Given the description of an element on the screen output the (x, y) to click on. 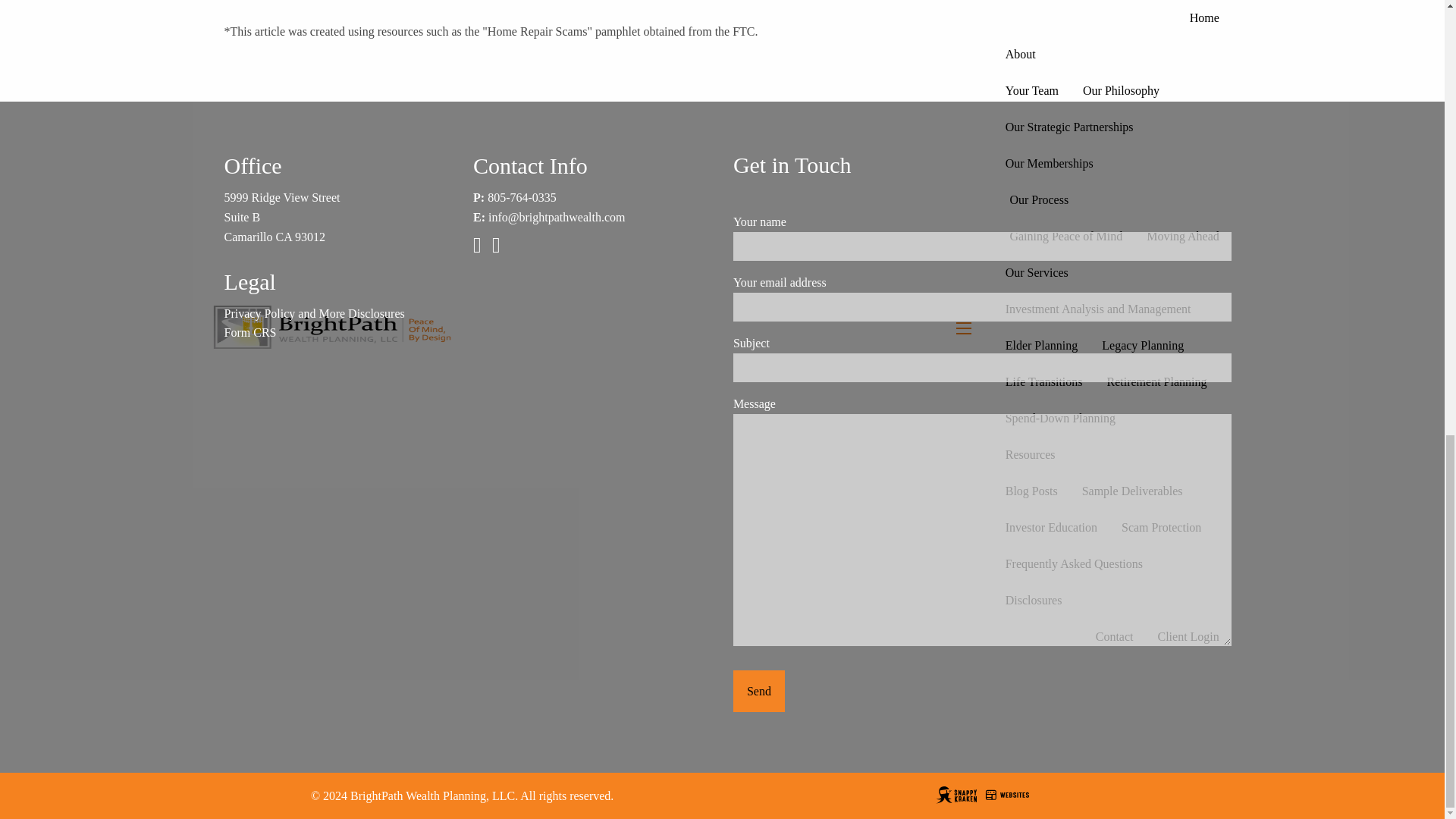
Form CRS (250, 332)
Send (758, 690)
Send (758, 690)
Privacy Policy and More Disclosures (314, 313)
Form CRS (250, 332)
Privacy Policy and Disclosures (314, 313)
805-764-0335 (521, 196)
